Given the description of an element on the screen output the (x, y) to click on. 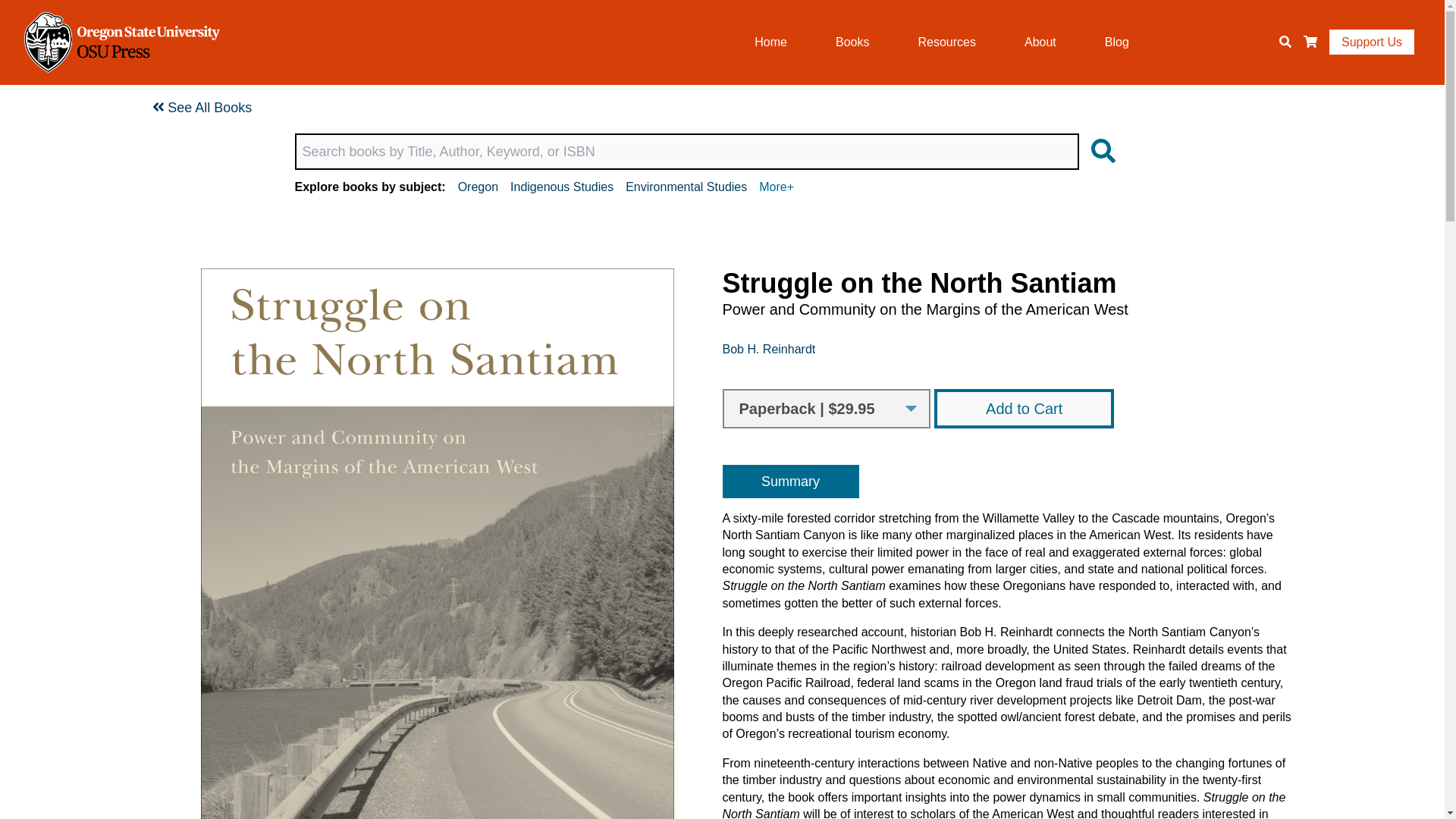
Home (770, 42)
Oregon (477, 186)
Environmental Studies (686, 186)
Resources (946, 42)
About (1039, 42)
Submit (1098, 151)
Add to Cart (1023, 408)
Indigenous Studies (561, 186)
Home (121, 42)
See All Books (201, 107)
Books (852, 42)
Blog (1117, 42)
Support Us (1371, 41)
